Given the description of an element on the screen output the (x, y) to click on. 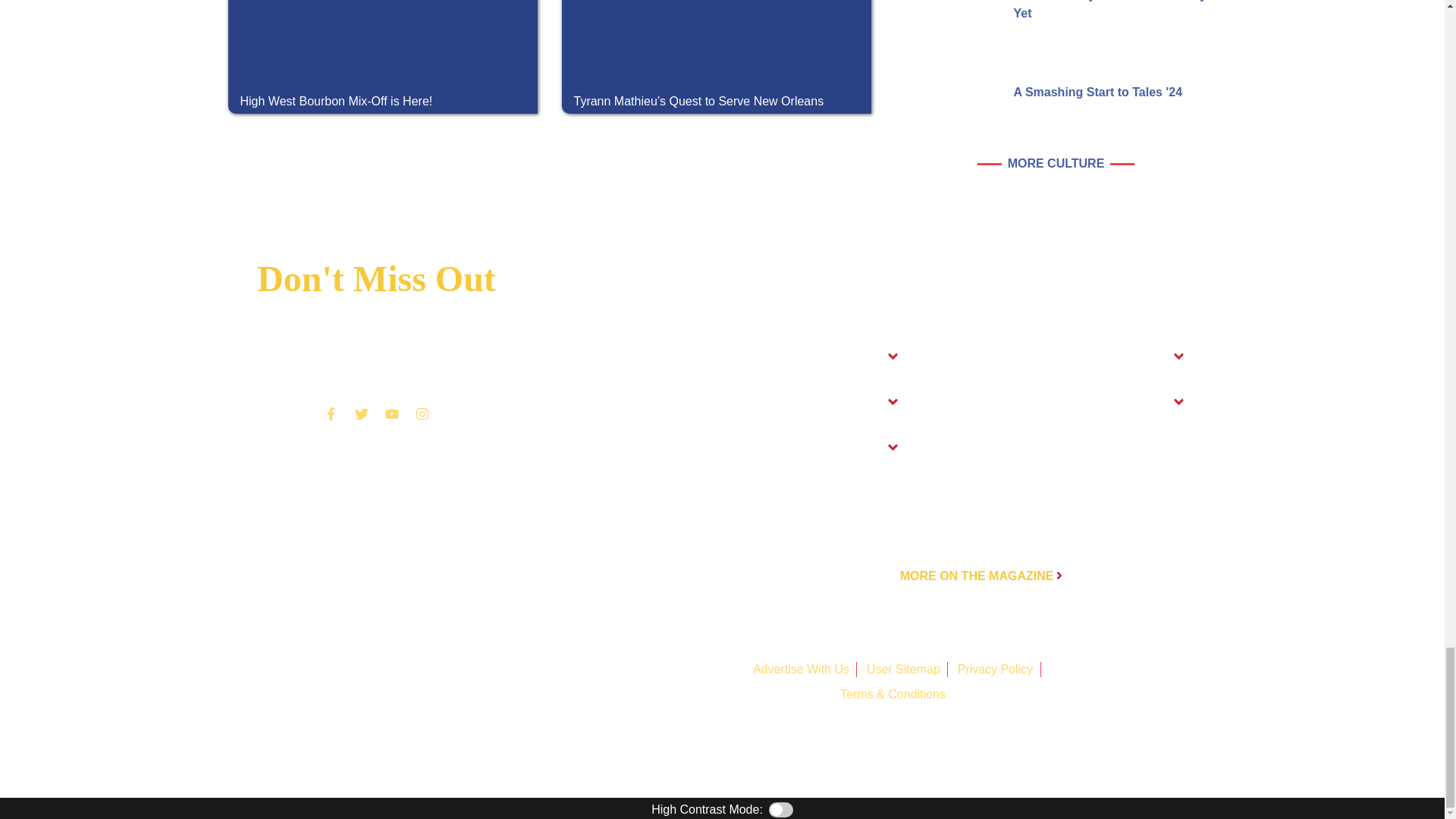
Facebook (330, 413)
YouTube (390, 413)
Instagram (421, 413)
